Given the description of an element on the screen output the (x, y) to click on. 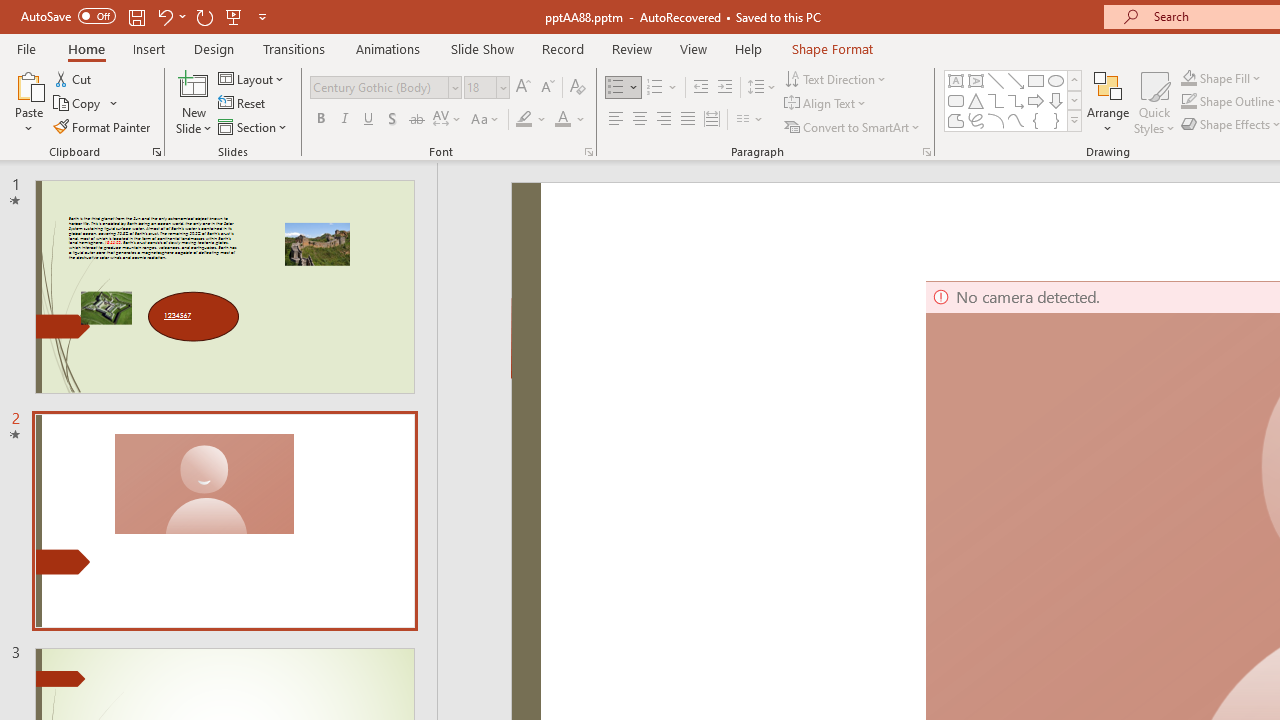
Beveled Matte, White (548, 100)
Center Shadow Rectangle (1164, 100)
Reset Picture (367, 126)
Thick Matte, Black (884, 100)
Picture Format (834, 48)
Beveled Oval, Black (996, 100)
Compound Frame, Black (1053, 100)
